Given the description of an element on the screen output the (x, y) to click on. 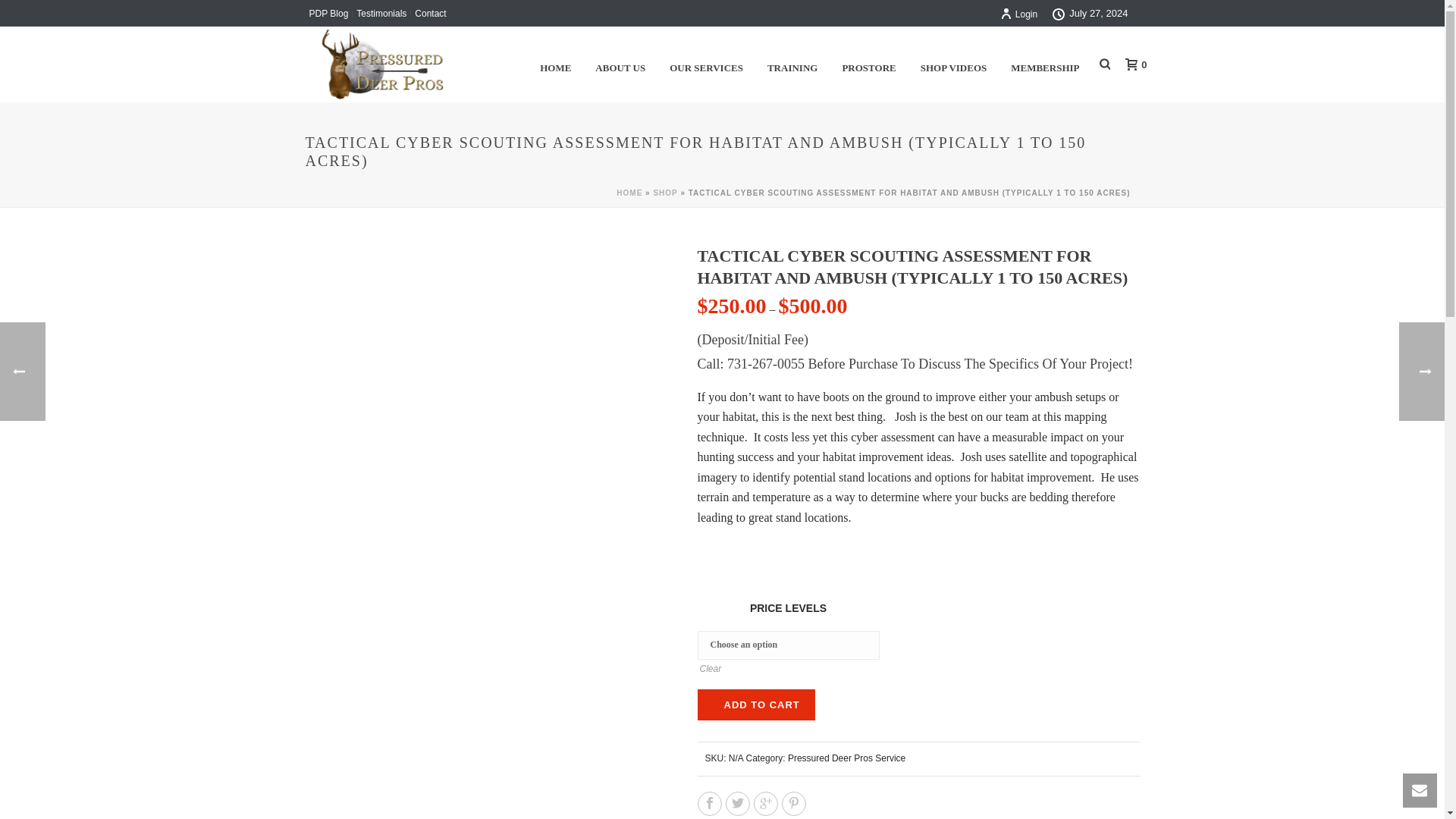
PROSTORE (868, 64)
TRAINING (792, 64)
ABOUT US (620, 64)
HOME (555, 64)
PROSTORE (868, 64)
MEMBERSHIP (1044, 64)
SHOP VIDEOS (953, 64)
OUR SERVICES (706, 64)
PDP Blog (328, 13)
Testimonials (381, 13)
Contact (429, 13)
ABOUT US (620, 64)
Bill Vale and The Circle of Masters (379, 64)
TRAINING (792, 64)
SHOP VIDEOS (953, 64)
